Given the description of an element on the screen output the (x, y) to click on. 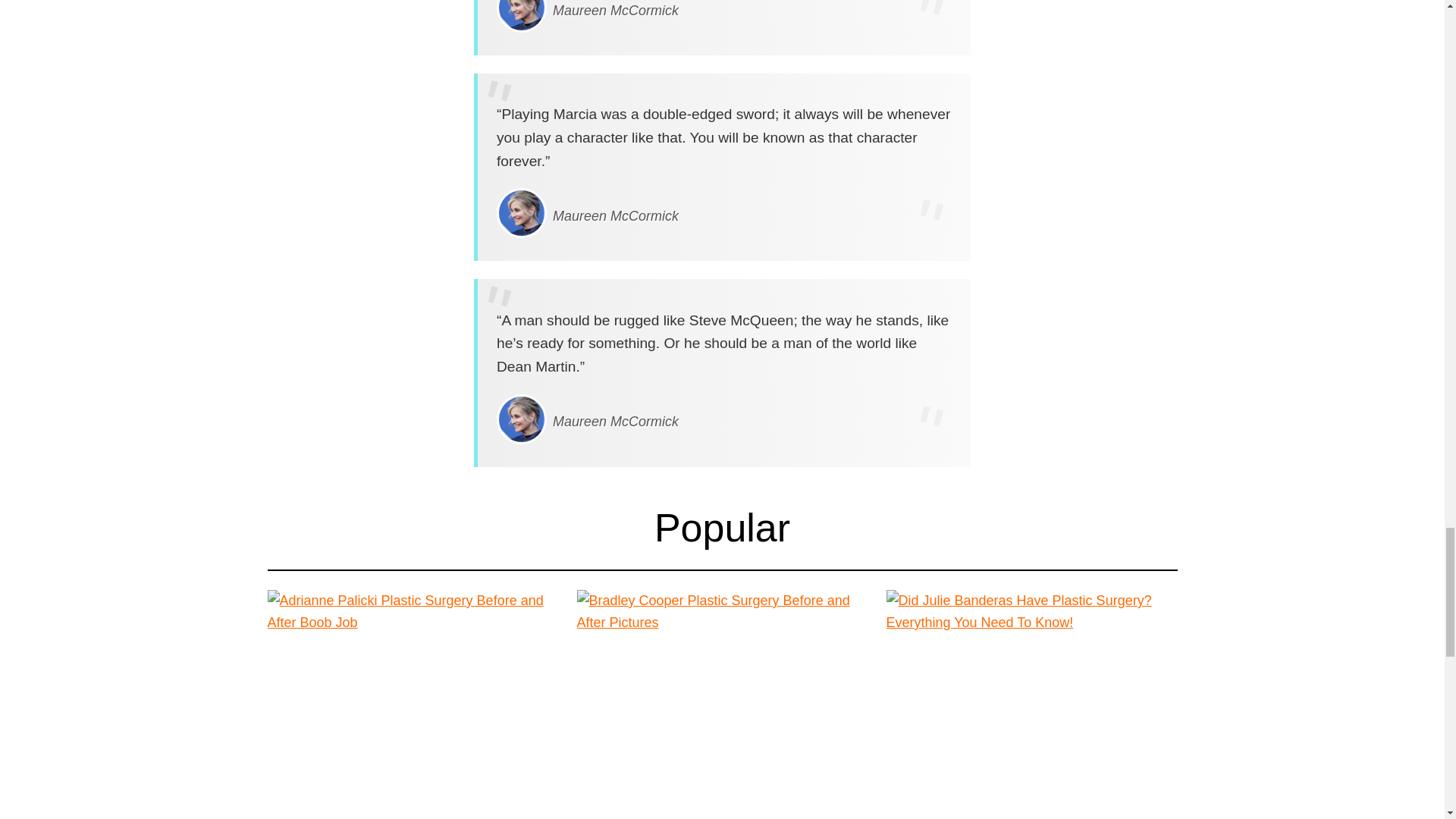
Adrianne Palicki Plastic Surgery Before and After Boob Job (411, 815)
Bradley Cooper Plastic Surgery Before and After Pictures (721, 815)
